Given the description of an element on the screen output the (x, y) to click on. 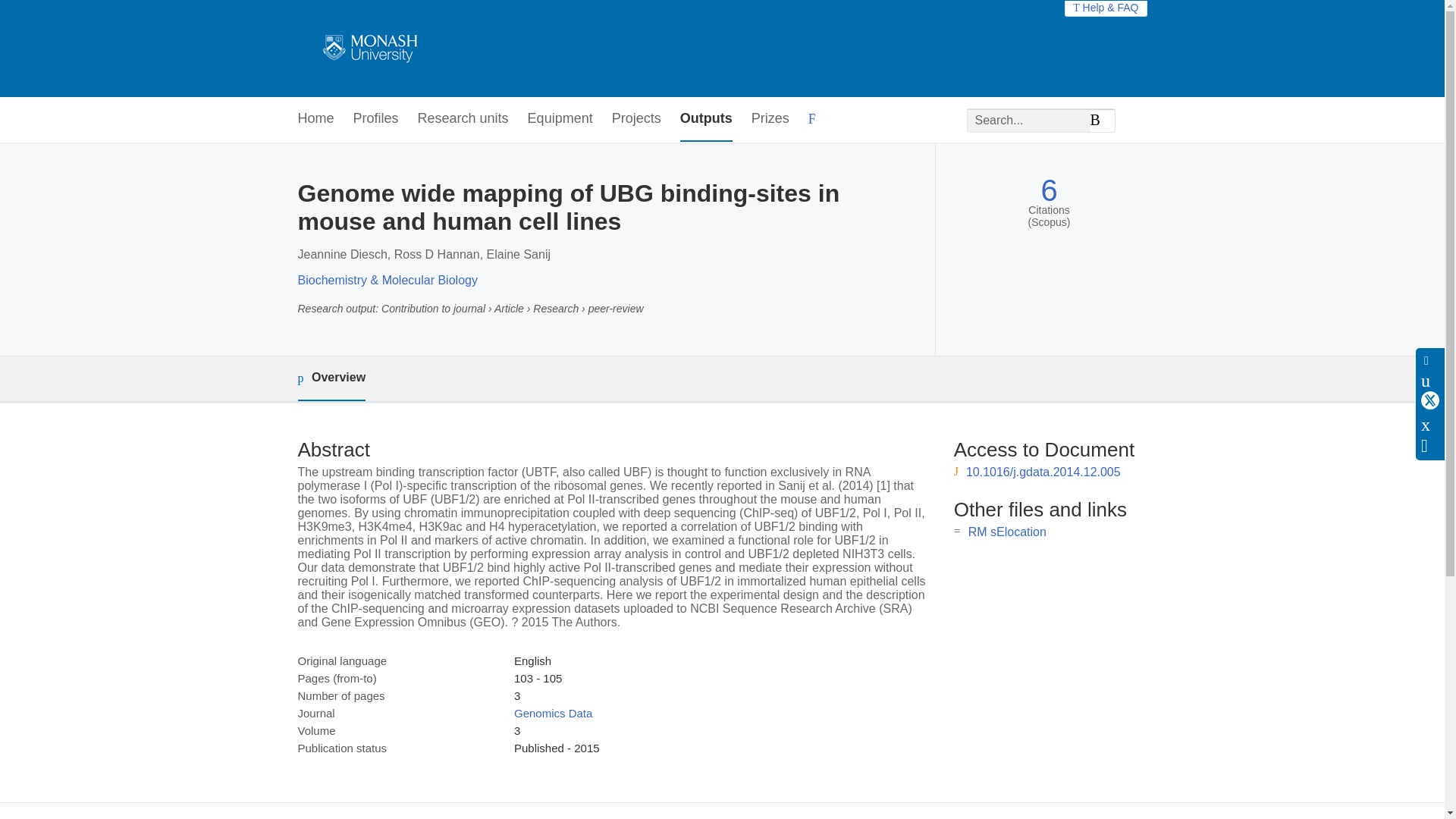
Profiles (375, 119)
Overview (331, 378)
Monash University Home (366, 48)
Research units (462, 119)
Projects (636, 119)
Home (315, 119)
Genomics Data (552, 712)
Equipment (559, 119)
Outputs (705, 119)
Prizes (770, 119)
6 (1049, 190)
RM sElocation (1007, 531)
